Given the description of an element on the screen output the (x, y) to click on. 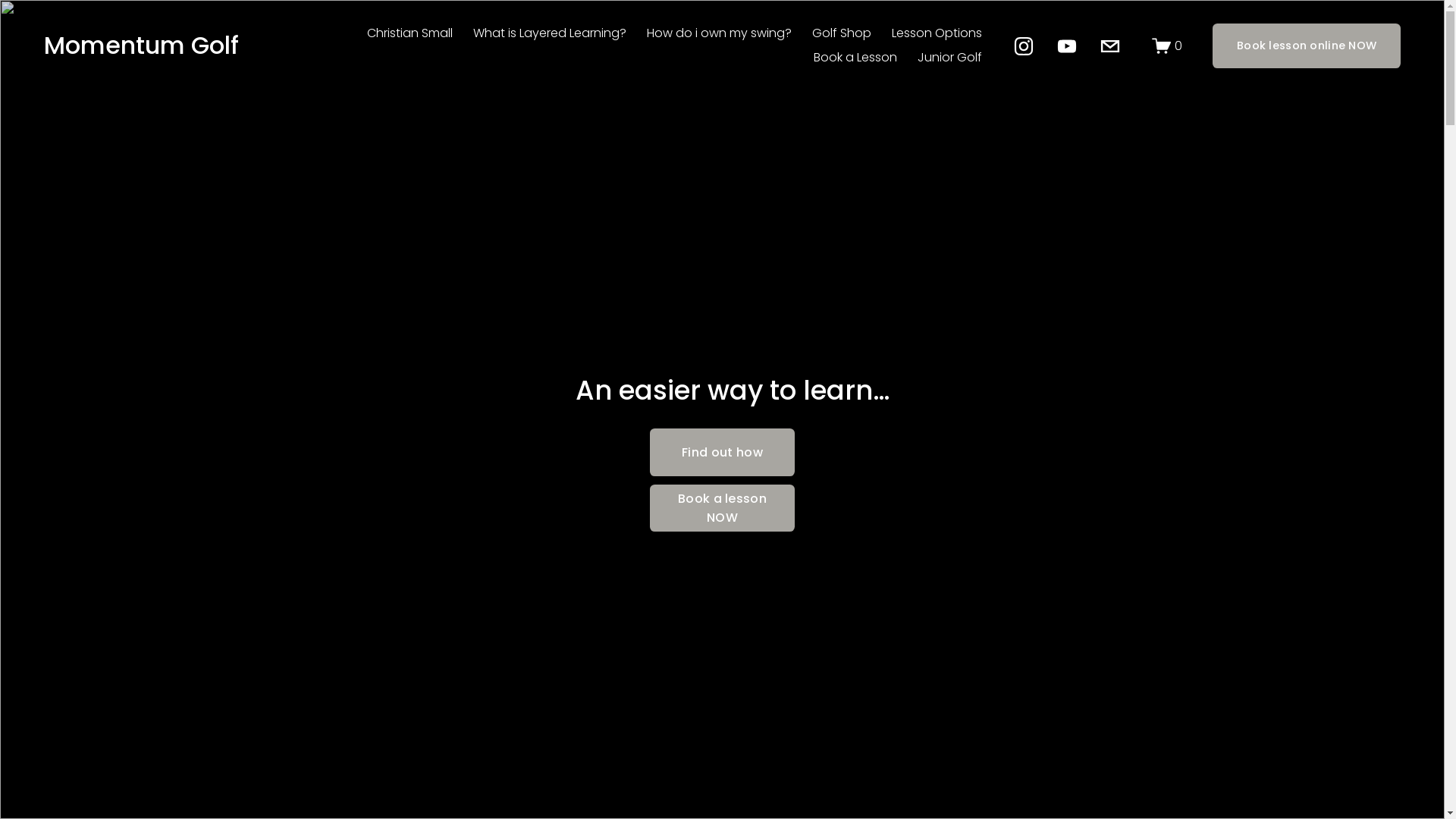
Junior Golf Element type: text (949, 58)
Lesson Options Element type: text (936, 33)
Book a Lesson Element type: text (855, 58)
What is Layered Learning? Element type: text (549, 33)
Book a lesson NOW Element type: text (721, 508)
Momentum Golf Element type: text (140, 45)
0 Element type: text (1166, 45)
Book lesson online NOW Element type: text (1306, 45)
Christian Small Element type: text (409, 33)
Golf Shop Element type: text (841, 33)
Find out how Element type: text (721, 452)
How do i own my swing? Element type: text (718, 33)
